Given the description of an element on the screen output the (x, y) to click on. 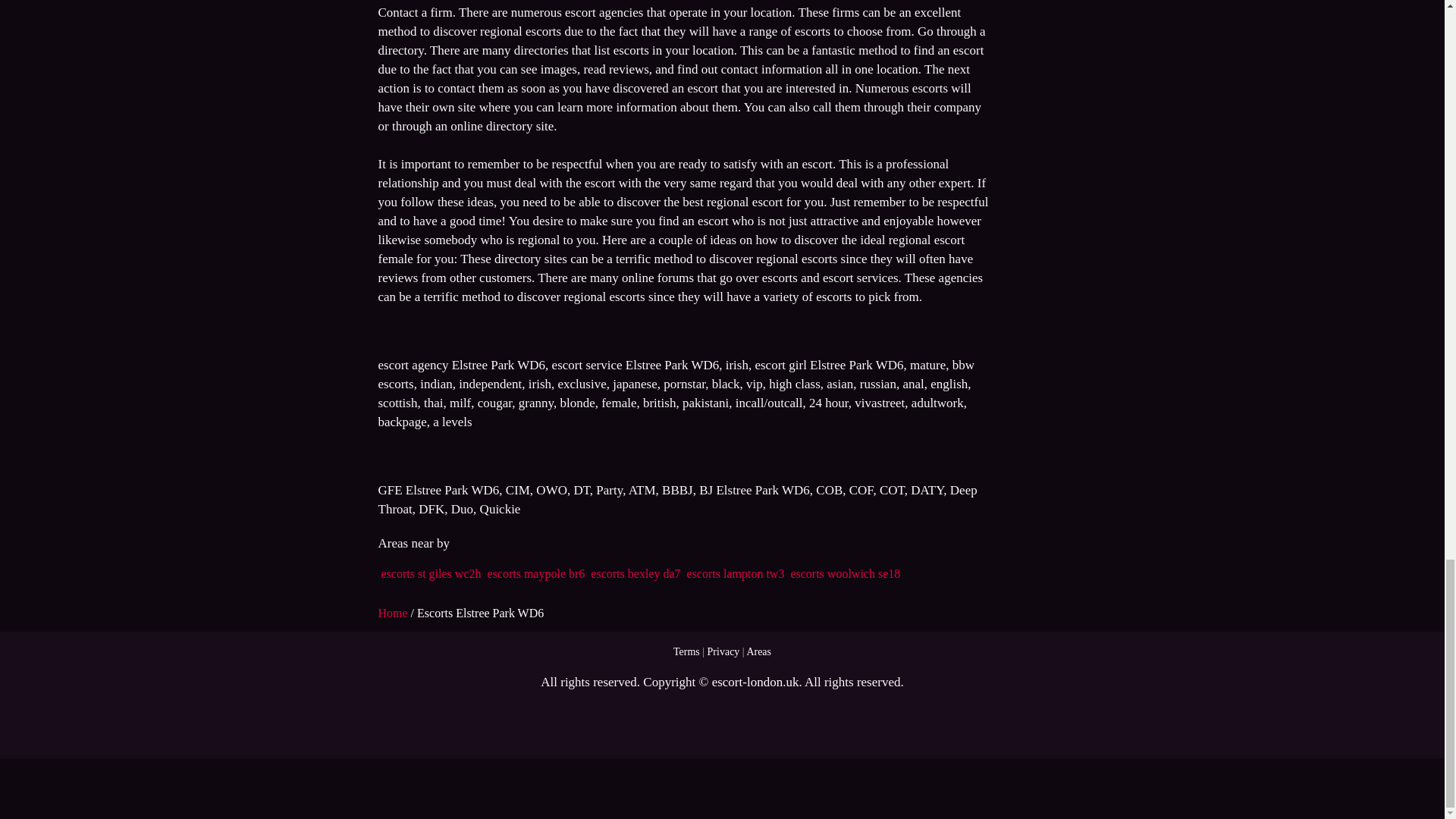
escorts woolwich se18 (844, 573)
Areas (758, 651)
Home (393, 612)
escorts bexley da7 (635, 573)
Terms (686, 651)
escort-london.uk (755, 681)
Privacy (723, 651)
Areas (758, 651)
escort-london.uk (755, 681)
escorts lampton tw3 (735, 573)
